Given the description of an element on the screen output the (x, y) to click on. 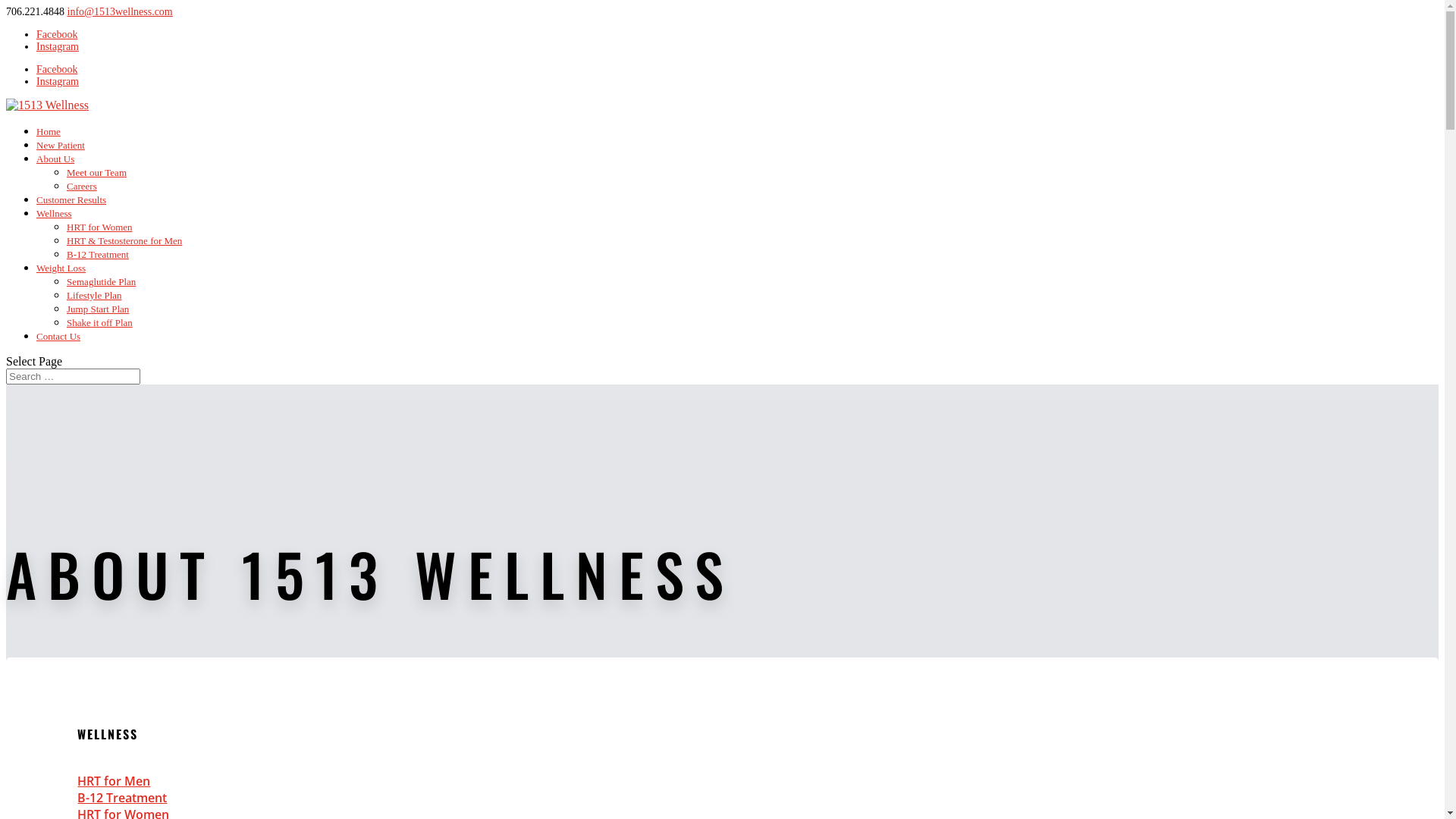
Meet our Team Element type: text (96, 172)
Semaglutide Plan Element type: text (100, 281)
B-12 Treatment Element type: text (121, 797)
Lifestyle Plan Element type: text (94, 295)
Search for: Element type: hover (73, 376)
Wellness Element type: text (54, 213)
Facebook Element type: text (56, 34)
Instagram Element type: text (57, 46)
Jump Start Plan Element type: text (97, 308)
New Patient Element type: text (60, 144)
HRT for Men Element type: text (113, 780)
Contact Us Element type: text (58, 336)
Home Element type: text (48, 131)
HRT & Testosterone for Men Element type: text (124, 240)
Shake it off Plan Element type: text (99, 322)
info@1513wellness.com Element type: text (119, 11)
Weight Loss Element type: text (60, 267)
HRT for Women Element type: text (99, 226)
B-12 Treatment Element type: text (97, 254)
Facebook Element type: text (56, 69)
Careers Element type: text (81, 185)
Customer Results Element type: text (71, 199)
Instagram Element type: text (57, 81)
About Us Element type: text (55, 158)
